Given the description of an element on the screen output the (x, y) to click on. 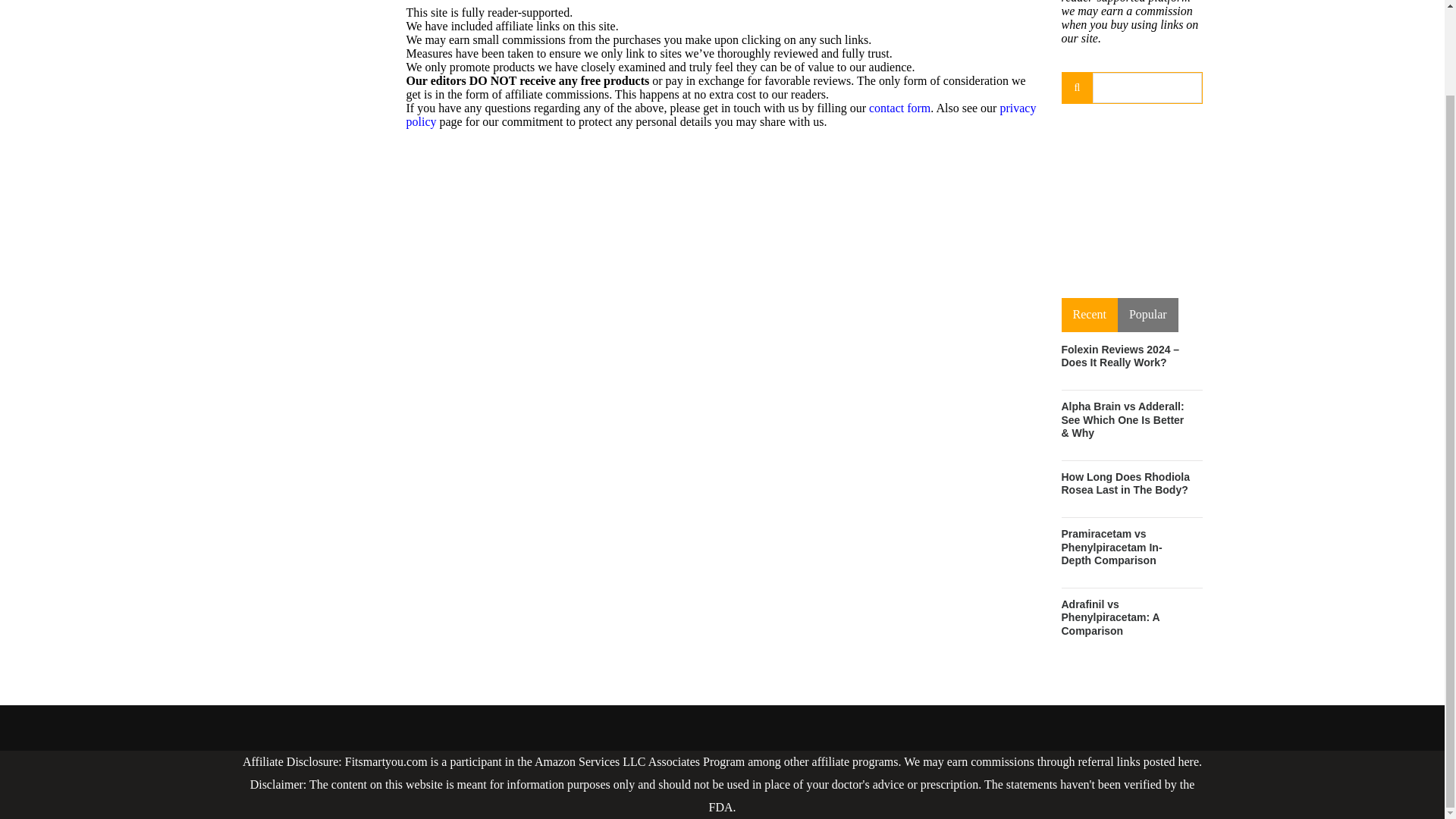
privacy policy (721, 114)
contact form (899, 107)
Popular (1147, 315)
Recent (1089, 315)
